Given the description of an element on the screen output the (x, y) to click on. 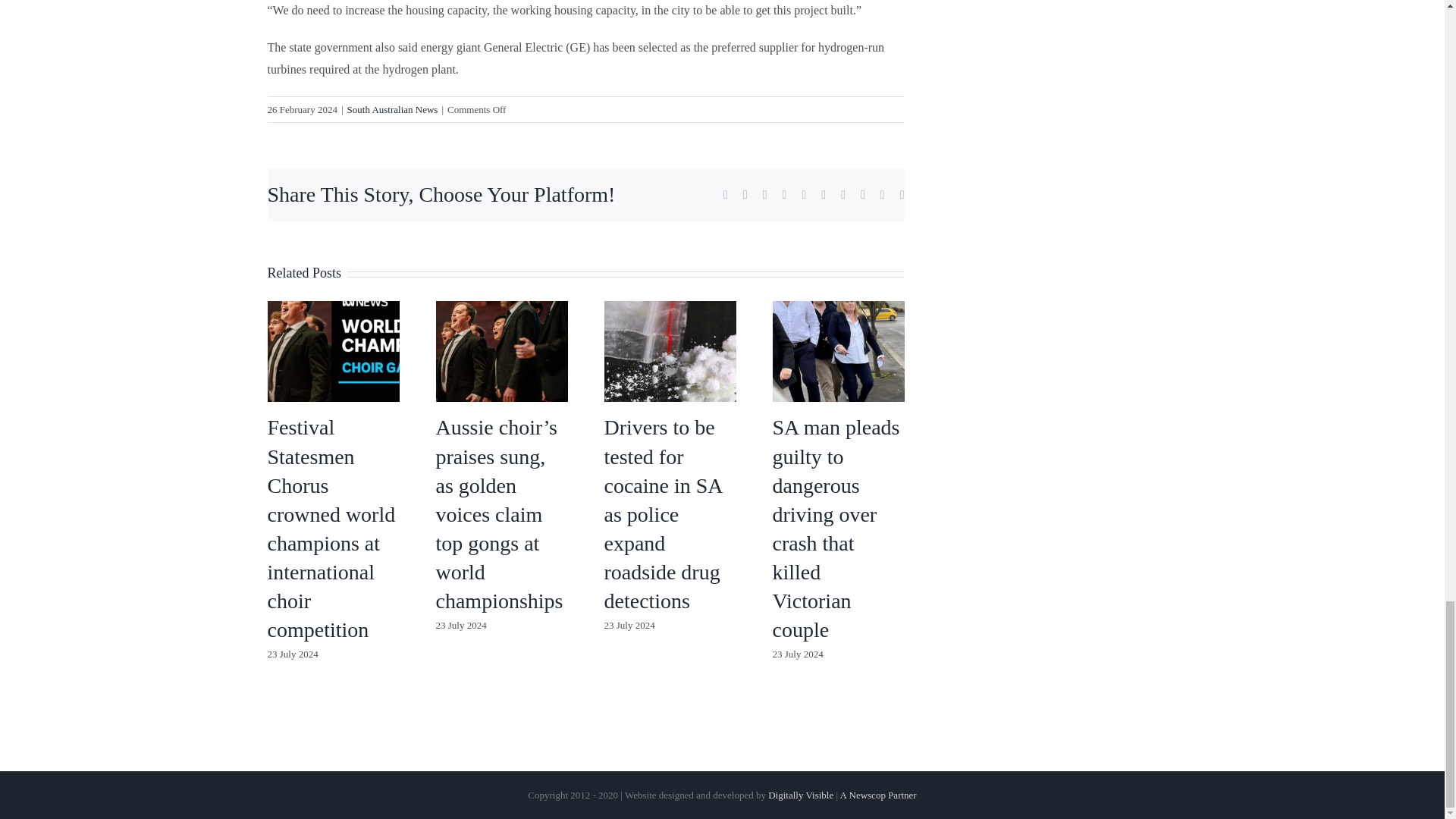
Tumblr (823, 194)
Reddit (785, 194)
Pinterest (843, 194)
South Australian News (392, 109)
Twitter (745, 194)
Vk (862, 194)
Xing (882, 194)
LinkedIn (764, 194)
Email (901, 194)
WhatsApp (804, 194)
Facebook (725, 194)
